Given the description of an element on the screen output the (x, y) to click on. 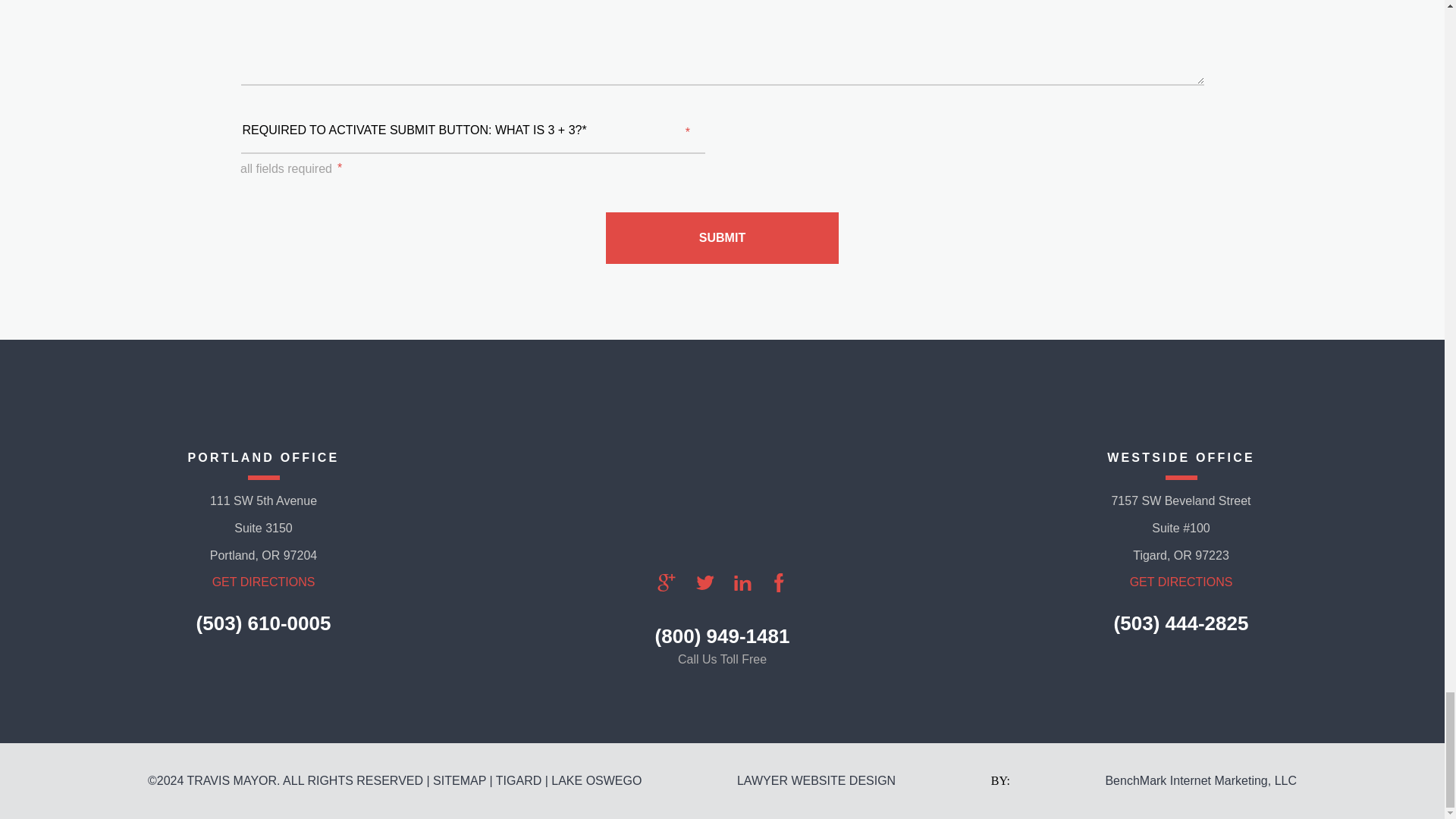
Submit (721, 237)
